Given the description of an element on the screen output the (x, y) to click on. 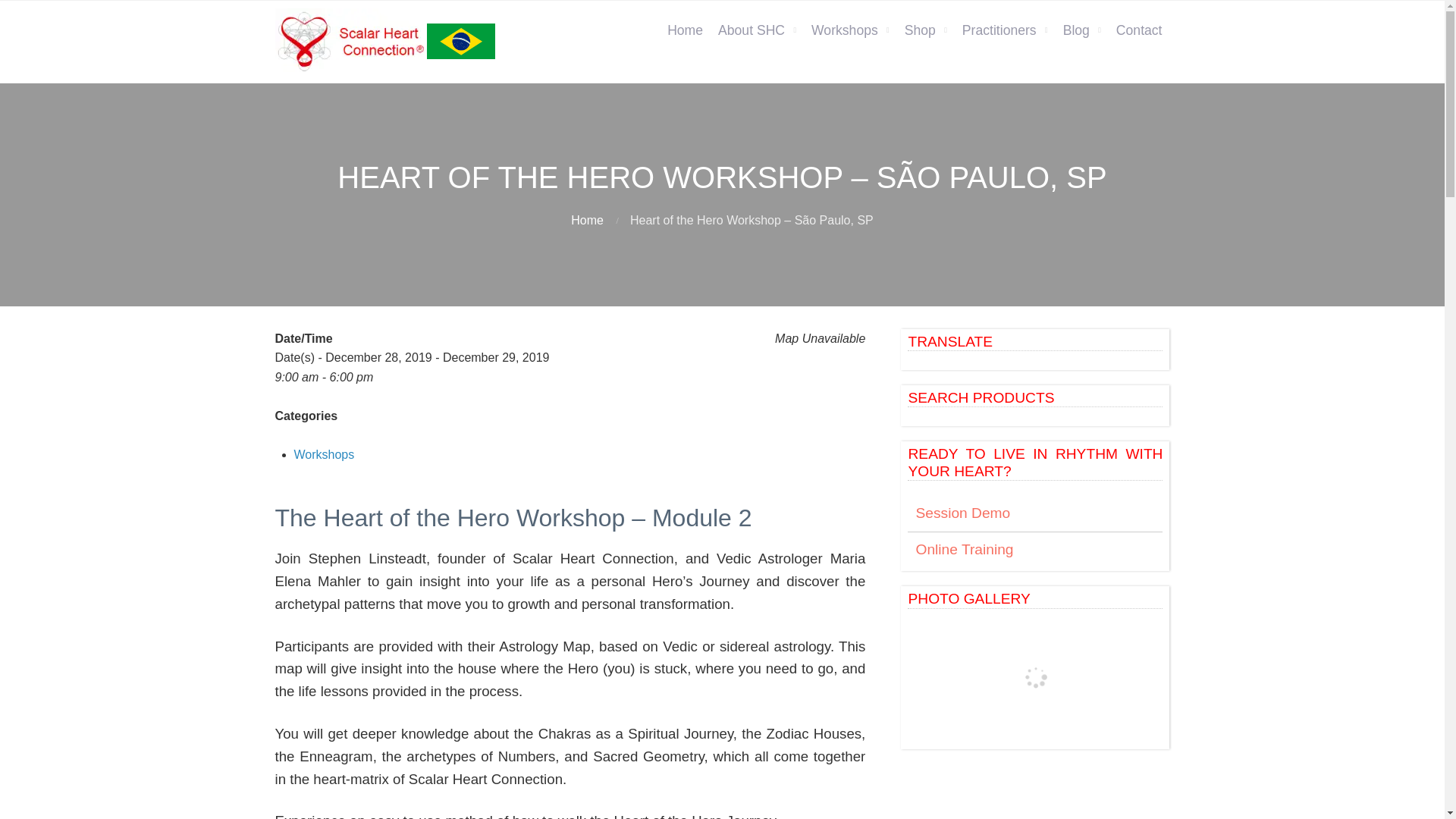
Home (684, 30)
Shop (925, 30)
Workshops (849, 30)
About SHC (756, 30)
Session Demo (1034, 513)
Contact (1139, 30)
Workshops (324, 454)
Home (587, 219)
Practitioners (1005, 30)
Online Training (1034, 550)
